Given the description of an element on the screen output the (x, y) to click on. 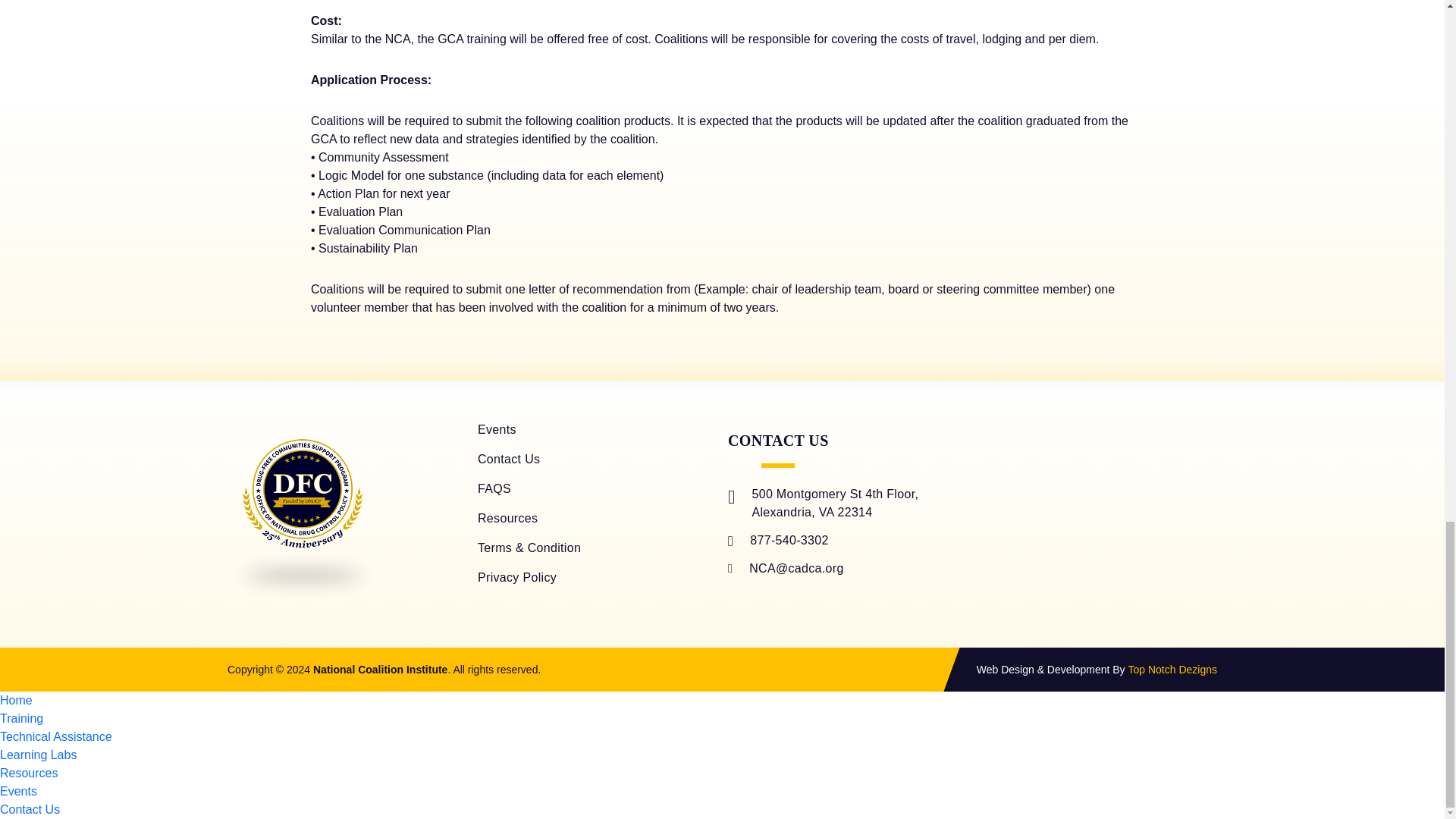
FAQS (494, 488)
Resources (507, 518)
Contact Us (508, 459)
Privacy Policy (516, 577)
877-540-3302 (778, 540)
Events (496, 429)
Top Notch Dezigns (1171, 669)
